Given the description of an element on the screen output the (x, y) to click on. 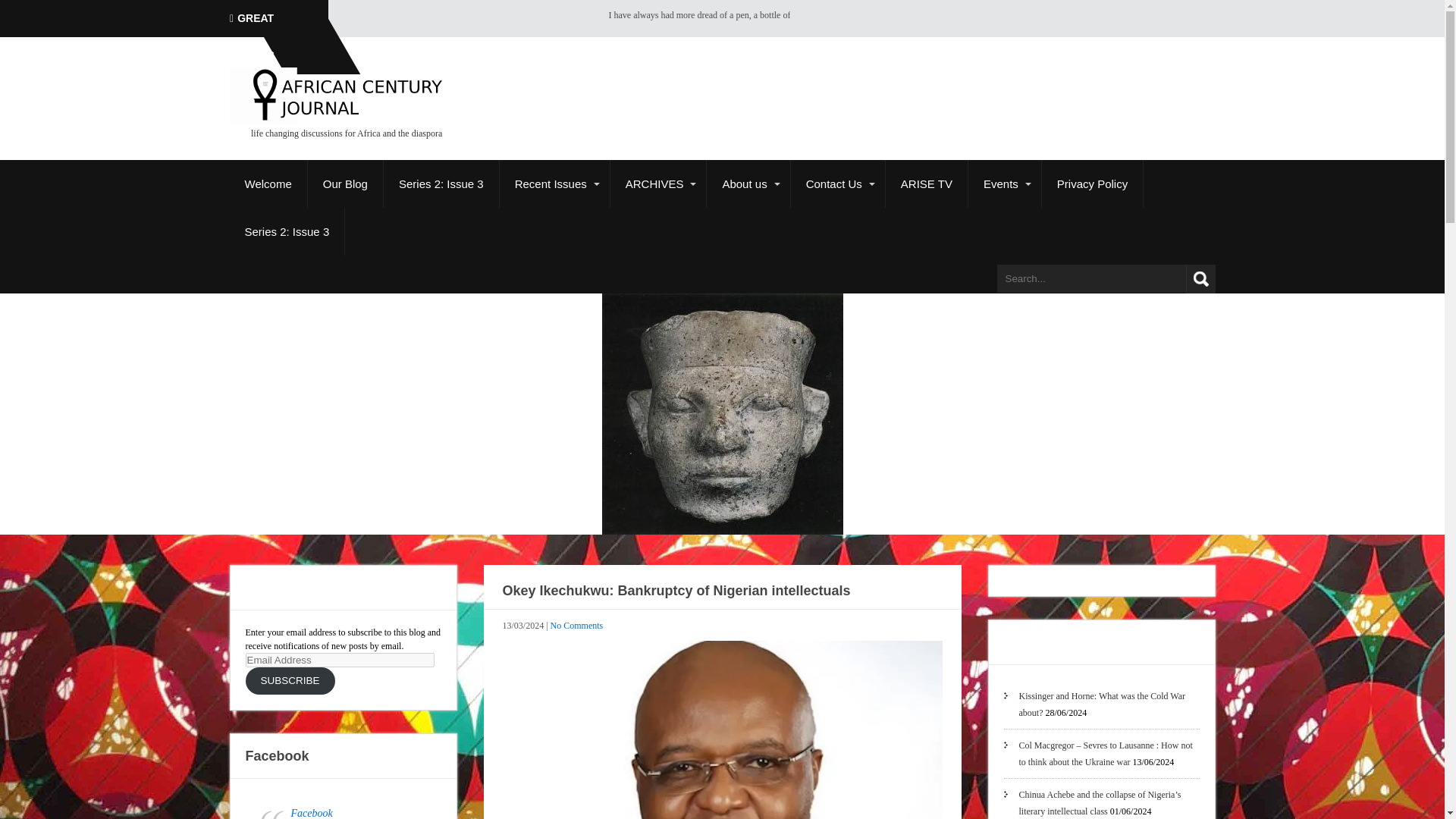
life changing discussions for Africa and the diaspora (335, 128)
Recent Issues (554, 183)
Contact Us (837, 183)
ARISE TV (926, 183)
Events (1005, 183)
Series 2: Issue 3 (441, 183)
Our Blog (345, 183)
Privacy Policy (1092, 183)
Welcome (267, 183)
ARCHIVES (658, 183)
About us (748, 183)
